Given the description of an element on the screen output the (x, y) to click on. 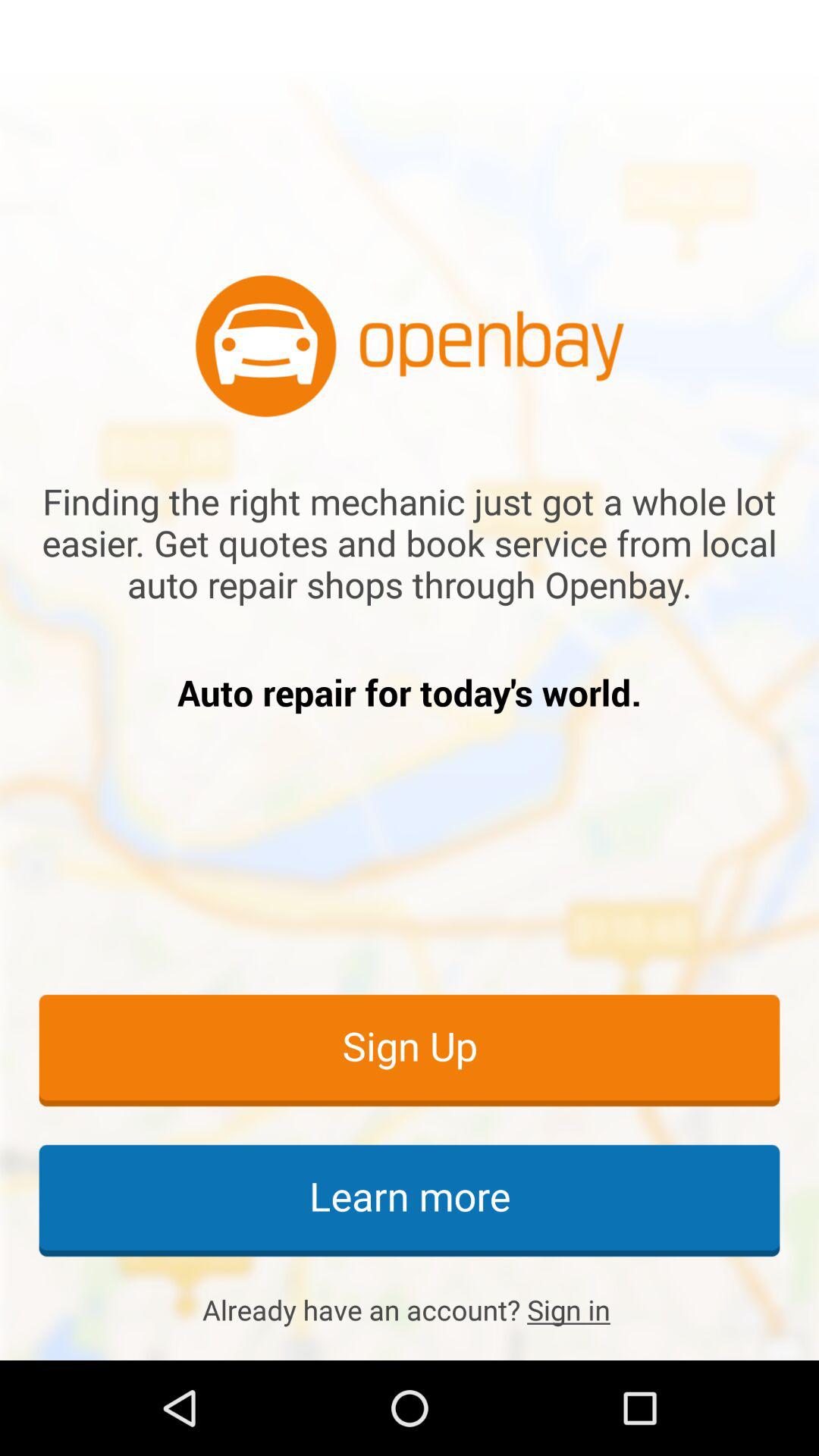
click the learn more icon (409, 1199)
